Given the description of an element on the screen output the (x, y) to click on. 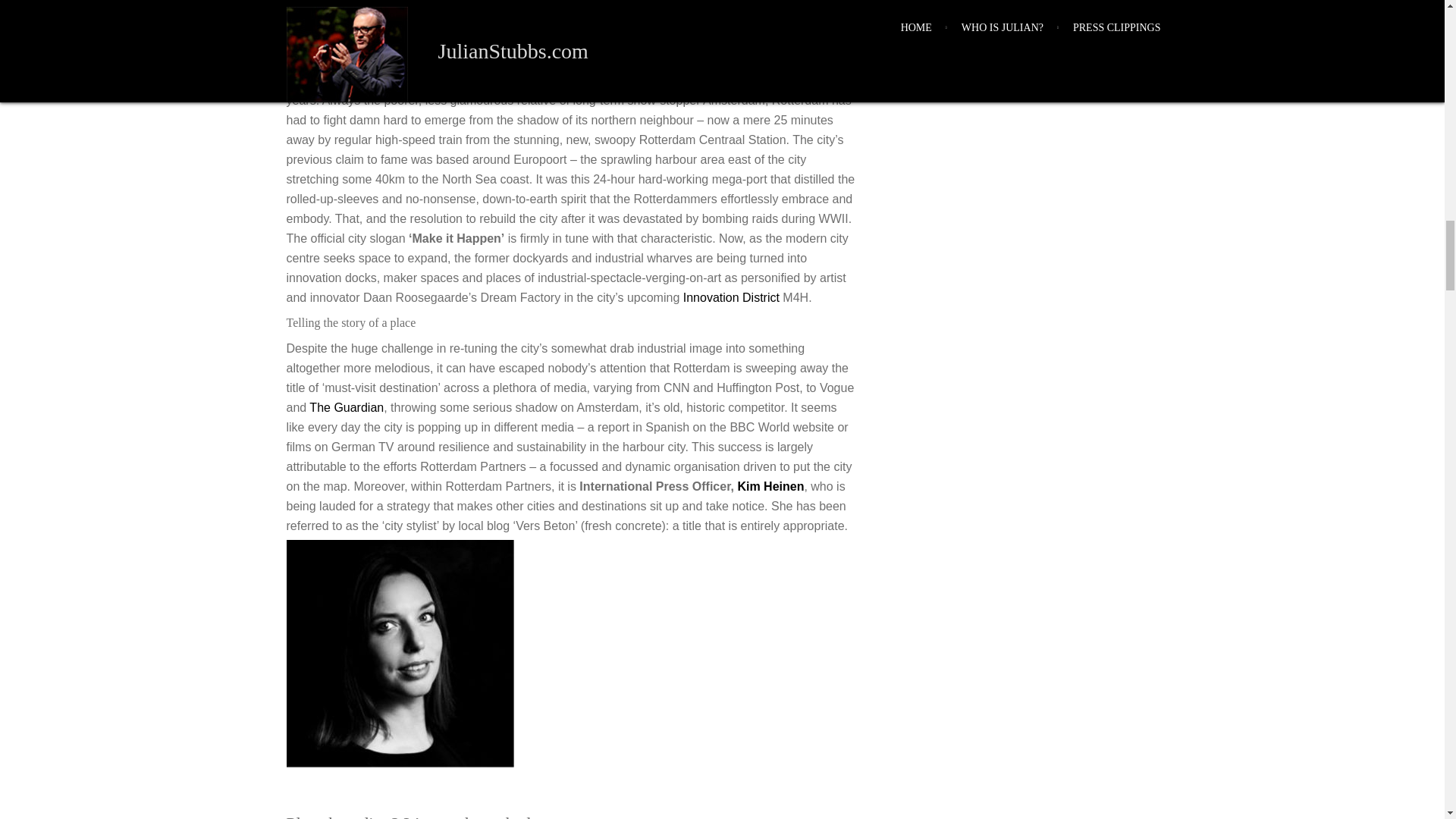
The Guardian (346, 407)
Kim Heinen (769, 486)
Innovation District (730, 297)
